Given the description of an element on the screen output the (x, y) to click on. 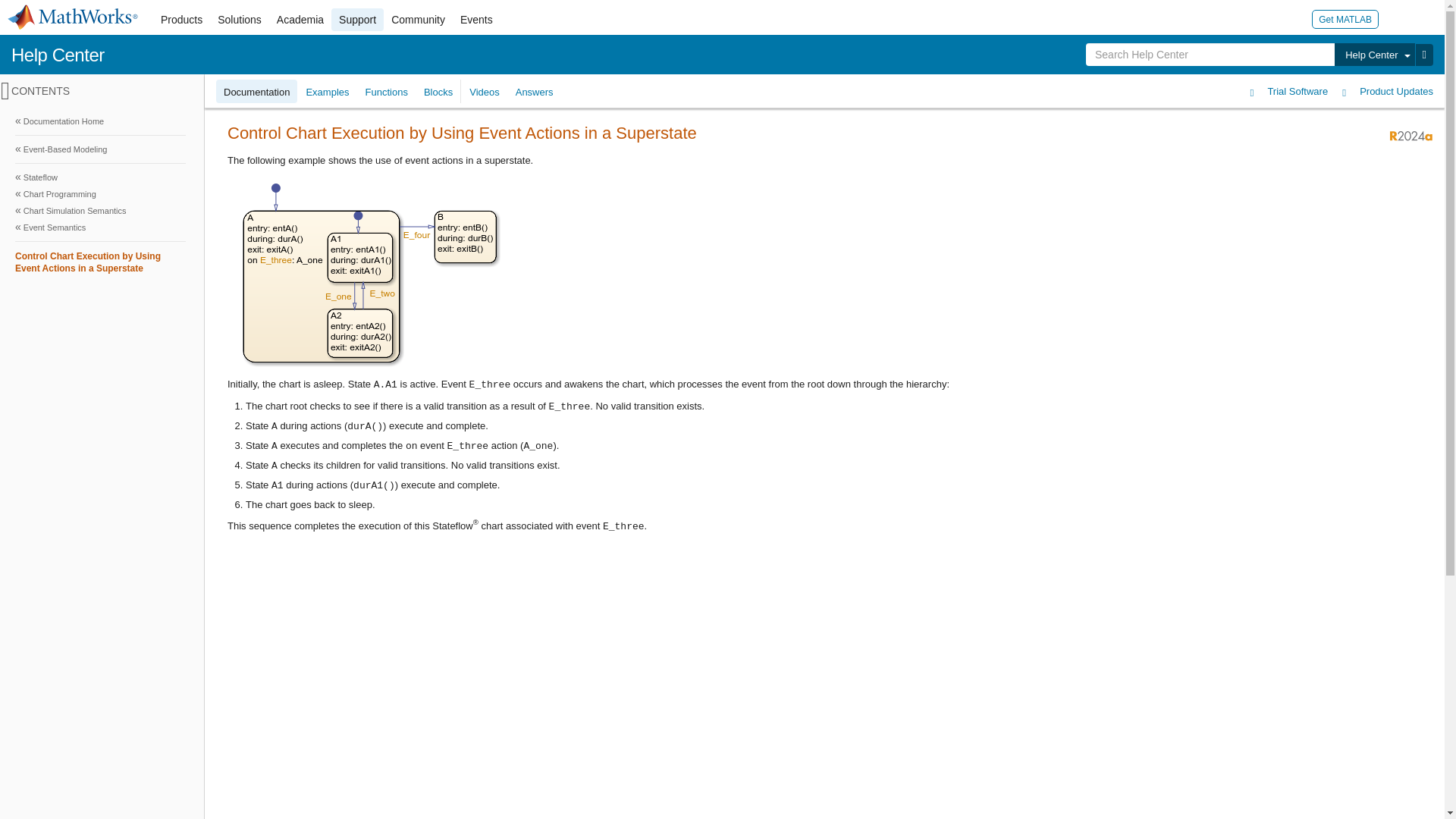
Get MATLAB (1344, 18)
Event Semantics (100, 227)
Academia (300, 19)
Solutions (239, 19)
Event-Based Modeling (100, 149)
Help Center (57, 54)
Help Center (1374, 54)
Chart Simulation Semantics (100, 210)
Events (476, 19)
Community (418, 19)
Sign In to Your MathWorks Account (1396, 18)
Chart Programming (100, 193)
Stateflow (100, 176)
